Given the description of an element on the screen output the (x, y) to click on. 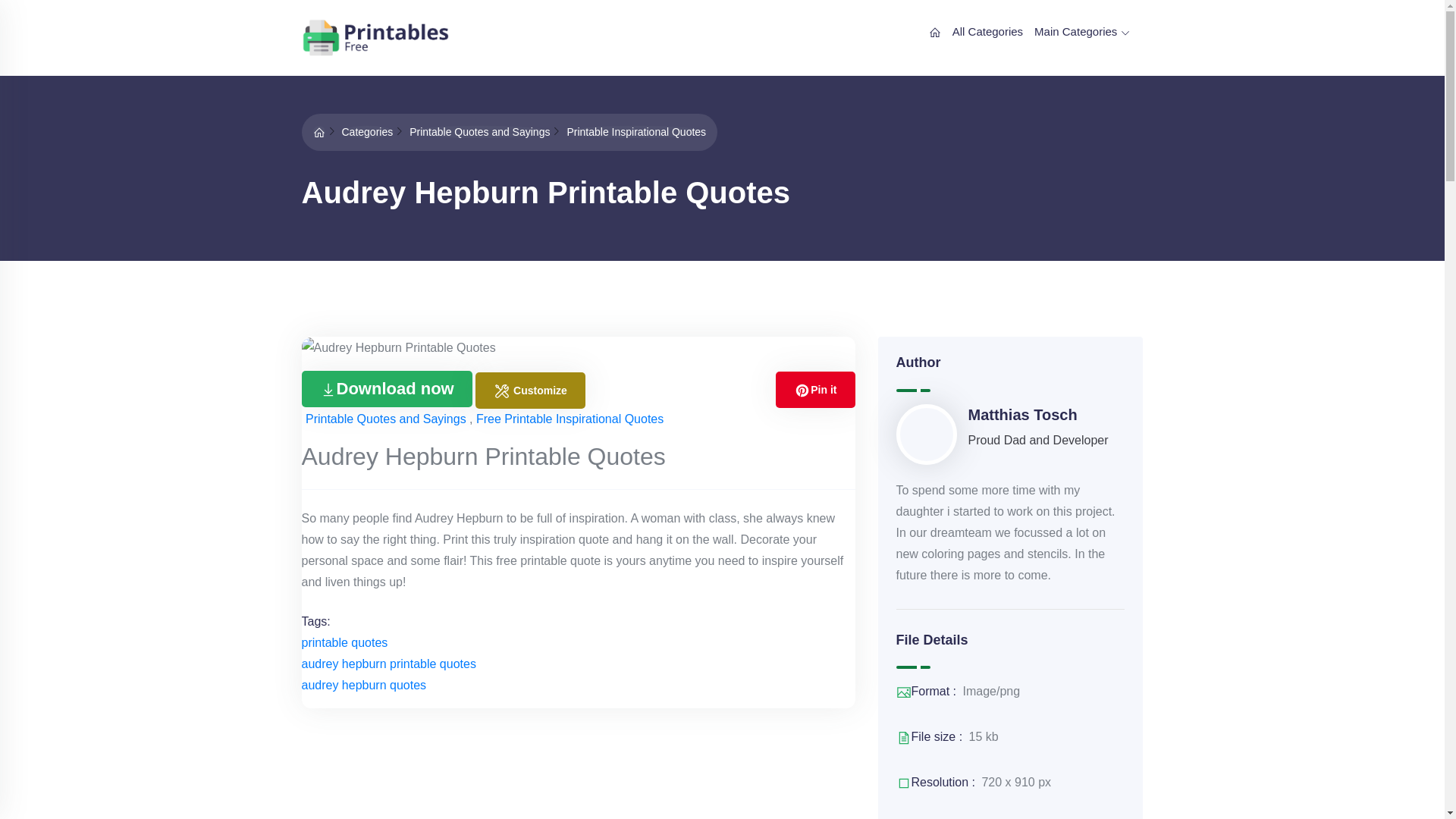
Printable Quotes and Sayings (479, 132)
Pin it on Pinterest (815, 389)
Categories (366, 132)
Back to Homepage and our Free Printables (318, 132)
Printable Inspirational Quotes (636, 132)
Main Categories (1081, 31)
All Categories (987, 31)
